Given the description of an element on the screen output the (x, y) to click on. 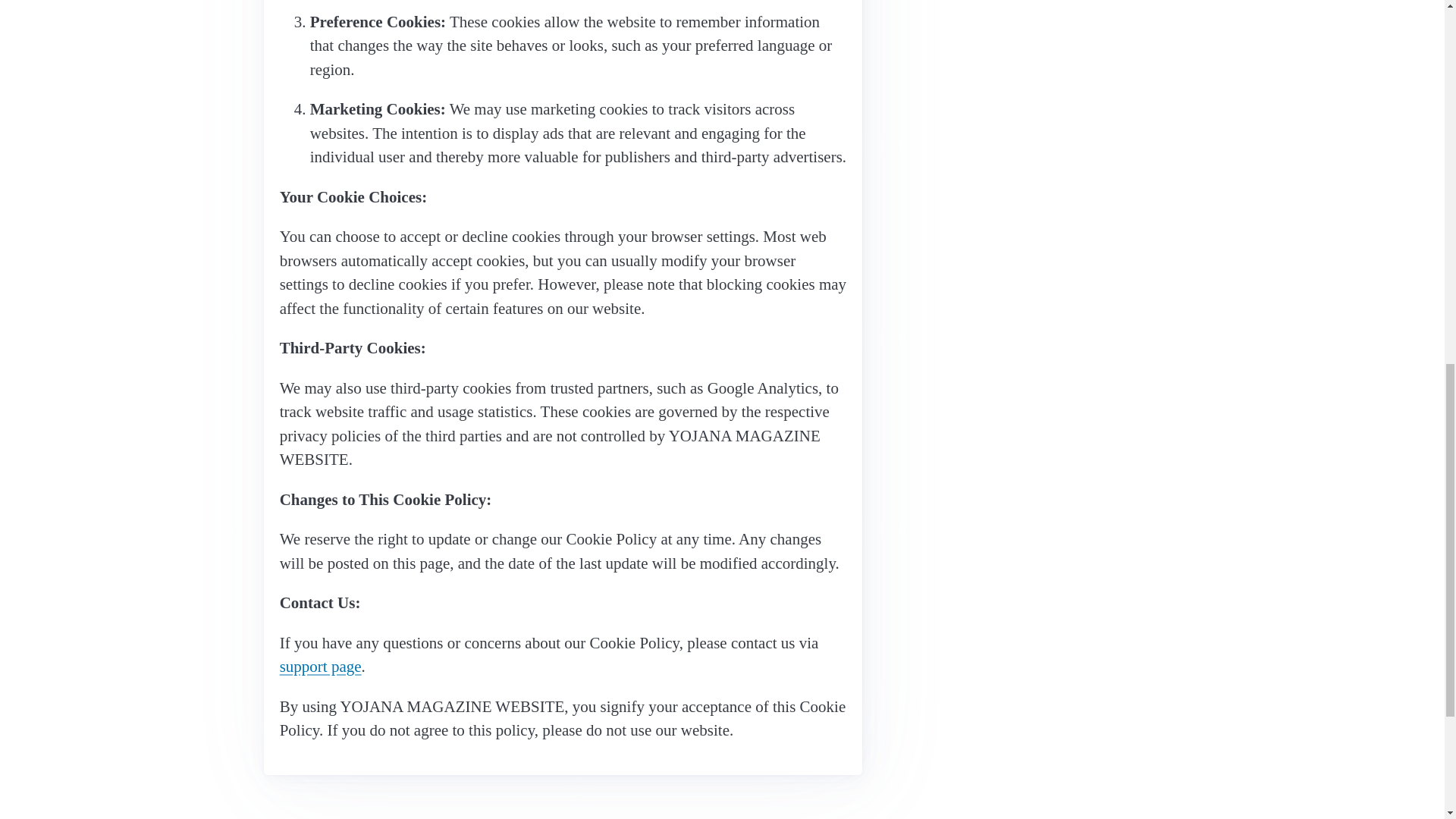
support page (320, 666)
